Given the description of an element on the screen output the (x, y) to click on. 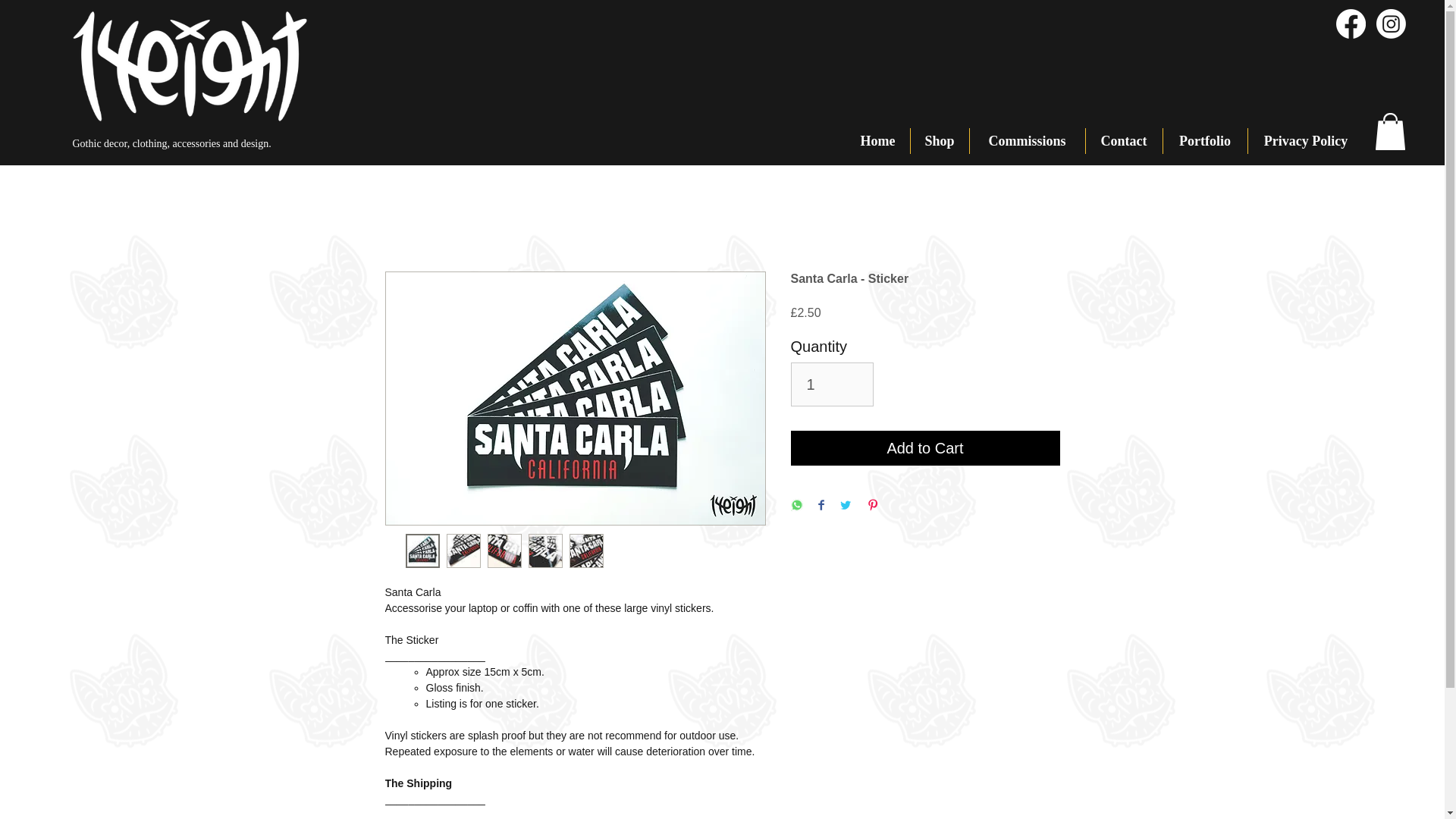
Portfolio (1205, 140)
Home (877, 140)
Commissions (1026, 140)
Shop (939, 140)
1 (831, 384)
Add to Cart (924, 448)
Privacy Policy (1305, 140)
Contact (1123, 140)
